Given the description of an element on the screen output the (x, y) to click on. 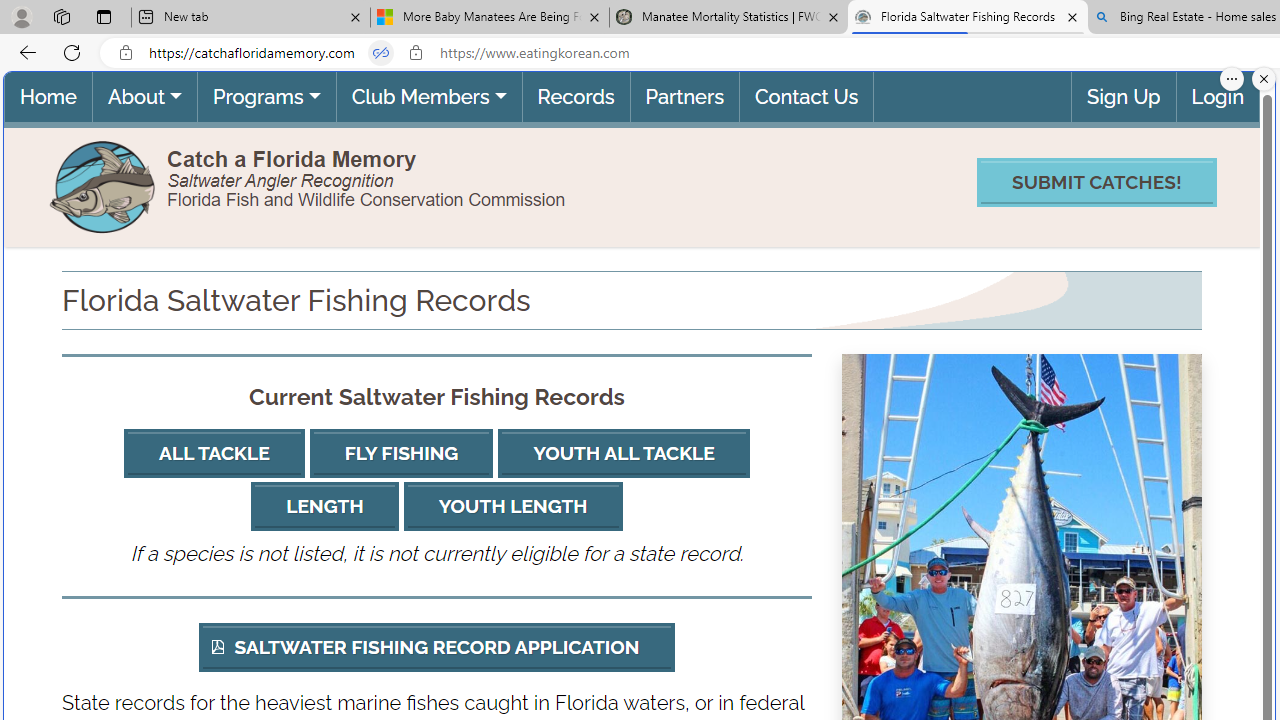
Programs (266, 96)
Home(current) (47, 96)
ALL TACKLE (214, 453)
Sign Up (1123, 96)
Partners (683, 96)
Programs (266, 96)
About (144, 96)
Home (current) (47, 96)
SALTWATER FISHING RECORD APPLICATION (436, 646)
SUBMIT CATCHES! (1096, 182)
Partners (683, 96)
